Given the description of an element on the screen output the (x, y) to click on. 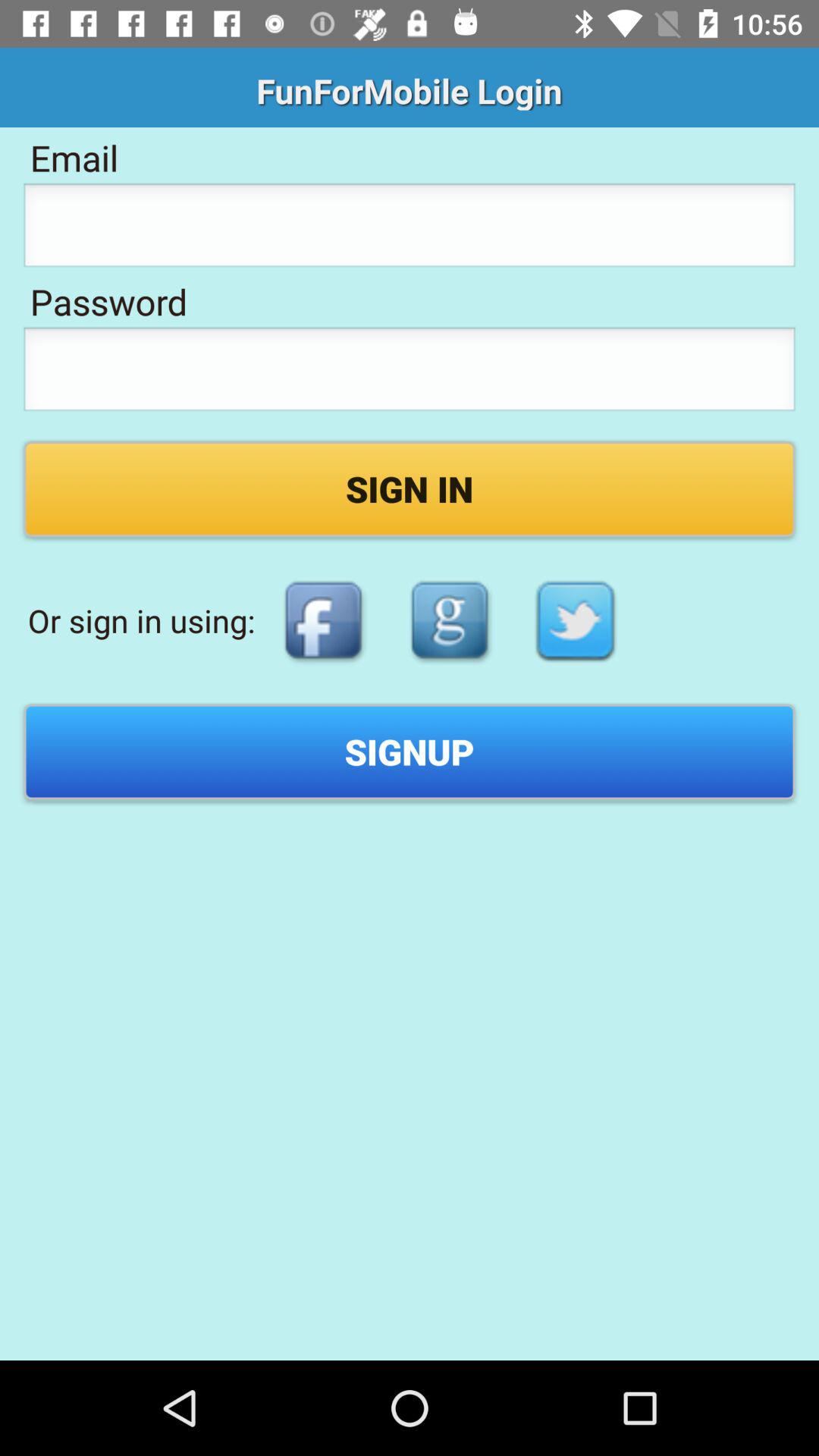
sign in with twitter (576, 620)
